Given the description of an element on the screen output the (x, y) to click on. 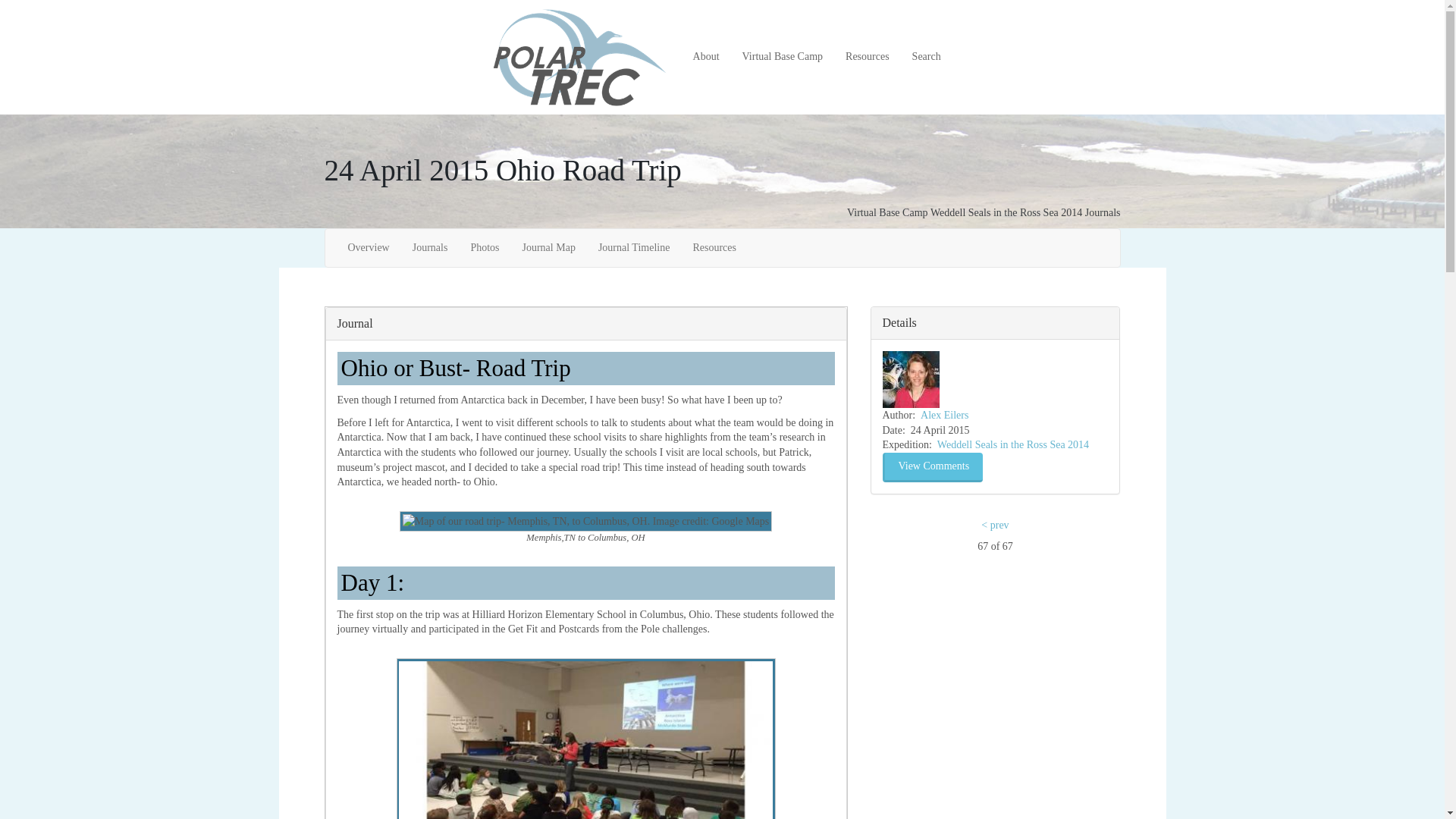
Home (585, 57)
Memphis,TN to Columbus, OH (584, 521)
Journals (1102, 212)
Presentation at Hilliard Horizon Elementary School (585, 738)
Virtual Base Camp (782, 56)
Virtual Base Camp (887, 212)
View user profile. (944, 414)
Weddell Seals in the Ross Sea 2014 (1005, 212)
Overview (368, 247)
